Given the description of an element on the screen output the (x, y) to click on. 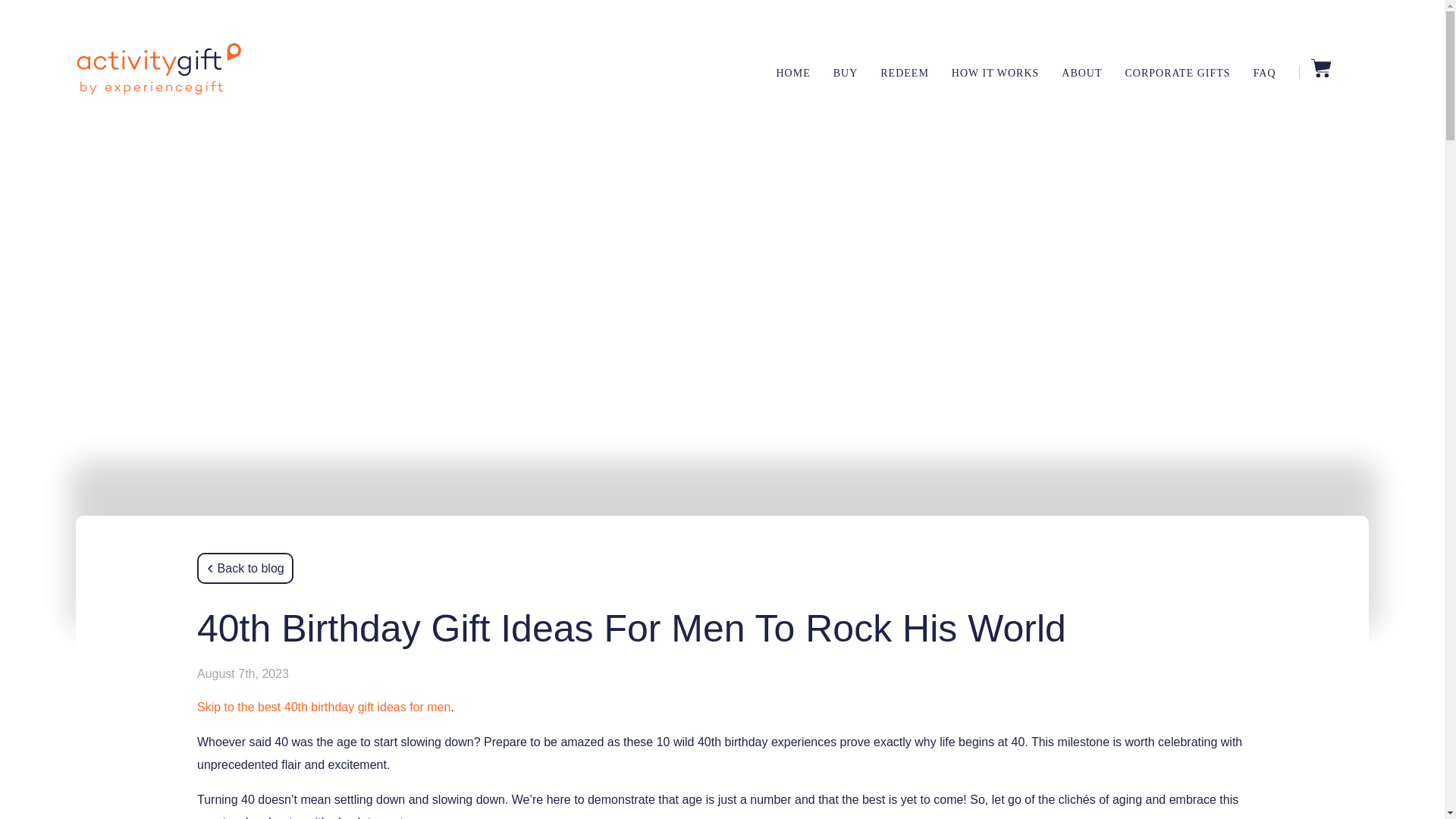
CORPORATE GIFTS (1177, 72)
HOW IT WORKS (995, 72)
REDEEM (904, 72)
FAQ (1264, 72)
HOME (792, 72)
Back to blog (245, 567)
ABOUT (1081, 72)
BUY (845, 72)
